Given the description of an element on the screen output the (x, y) to click on. 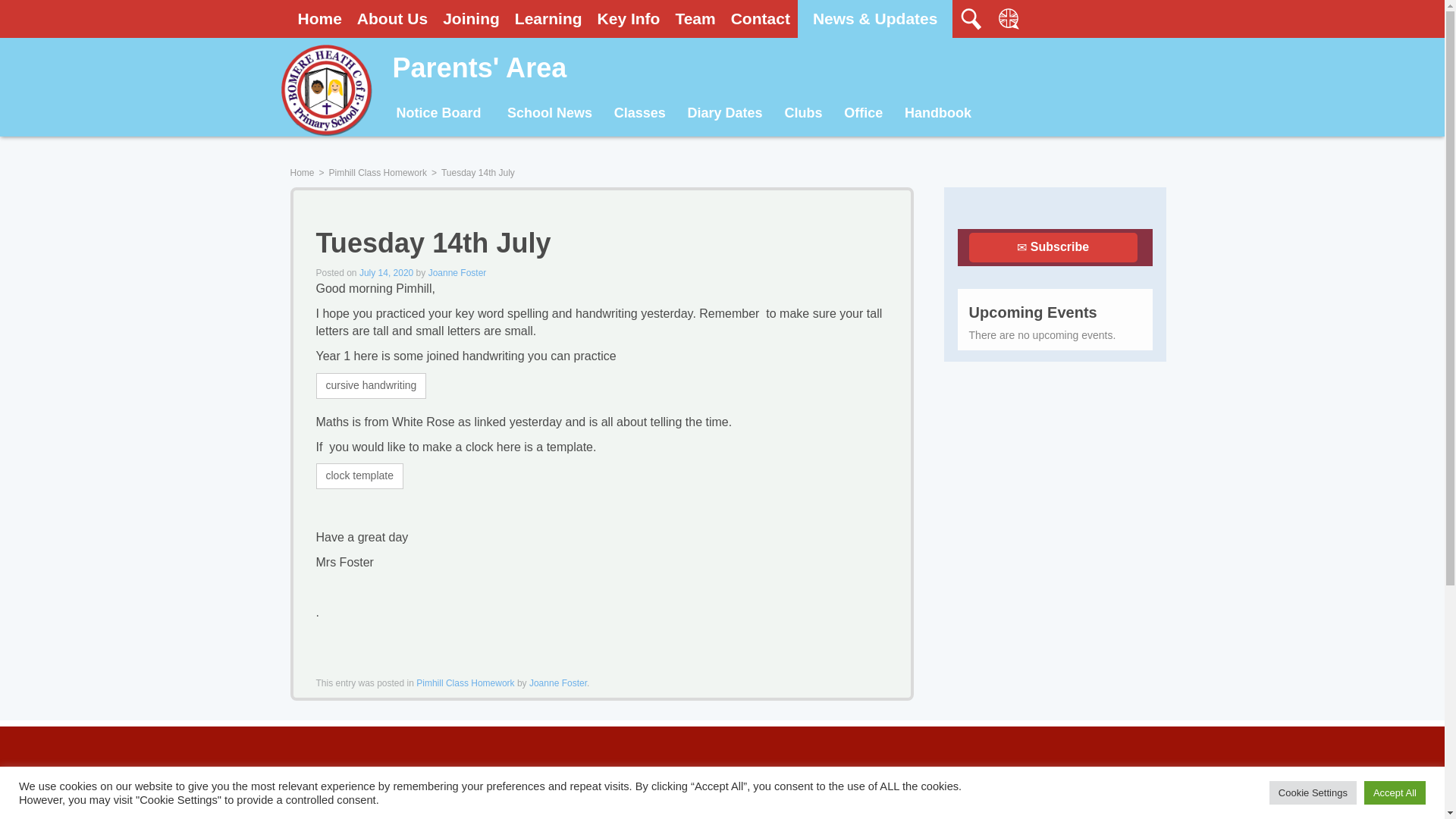
About Us (392, 18)
School News (550, 113)
Learning (547, 18)
Subscribe (1053, 247)
Home (319, 18)
Joanne Foster (557, 683)
Clubs (802, 113)
Team (694, 18)
cursive handwriting (370, 385)
Notice Board (438, 113)
Search (1124, 17)
Contact (760, 18)
Skip to primary content (460, 113)
Language (1008, 18)
Search (971, 18)
